Given the description of an element on the screen output the (x, y) to click on. 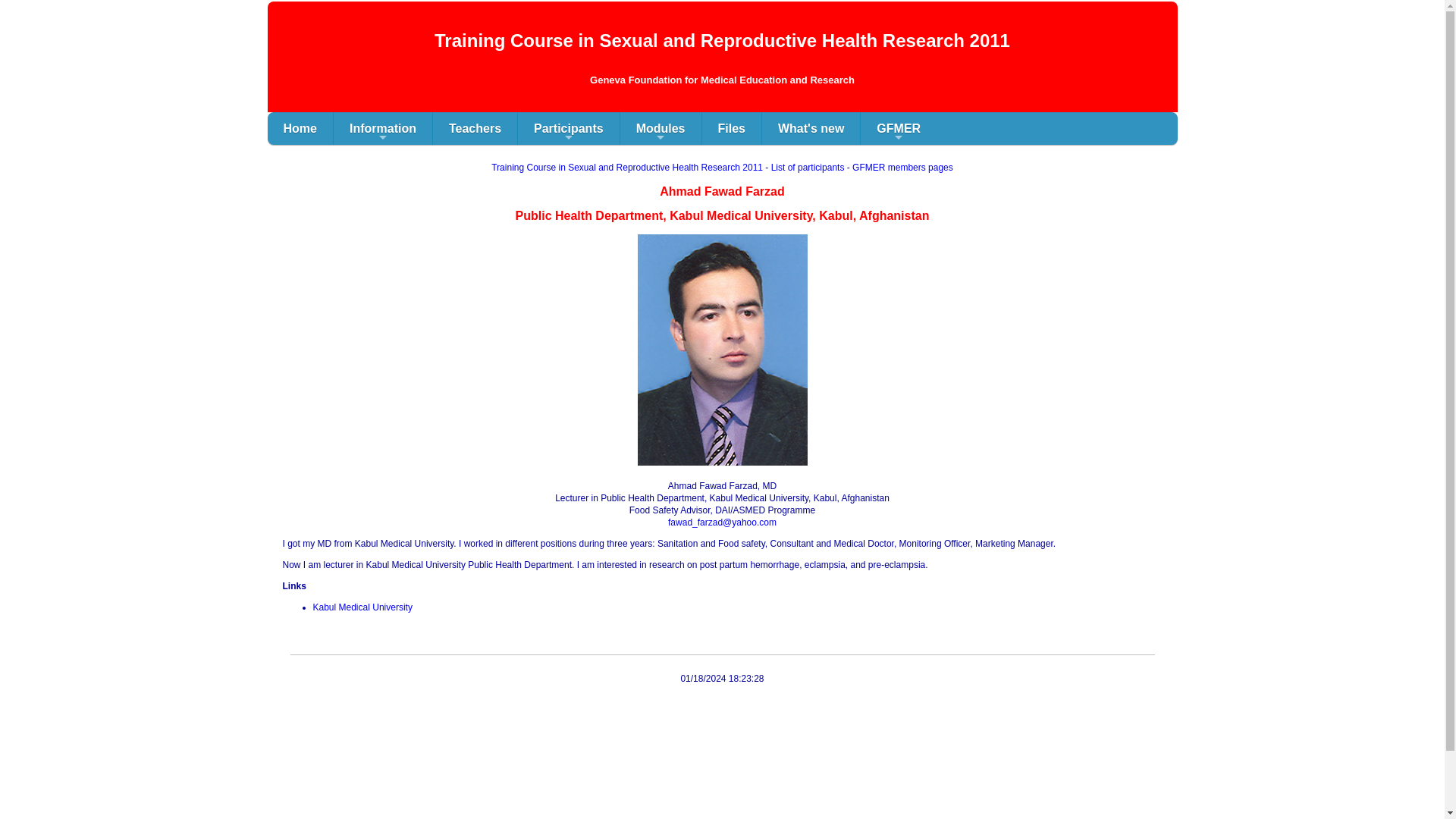
GFMER members pages (902, 167)
Home (298, 128)
Teachers (474, 128)
List of participants (807, 167)
What's new (810, 128)
Files (731, 128)
